Given the description of an element on the screen output the (x, y) to click on. 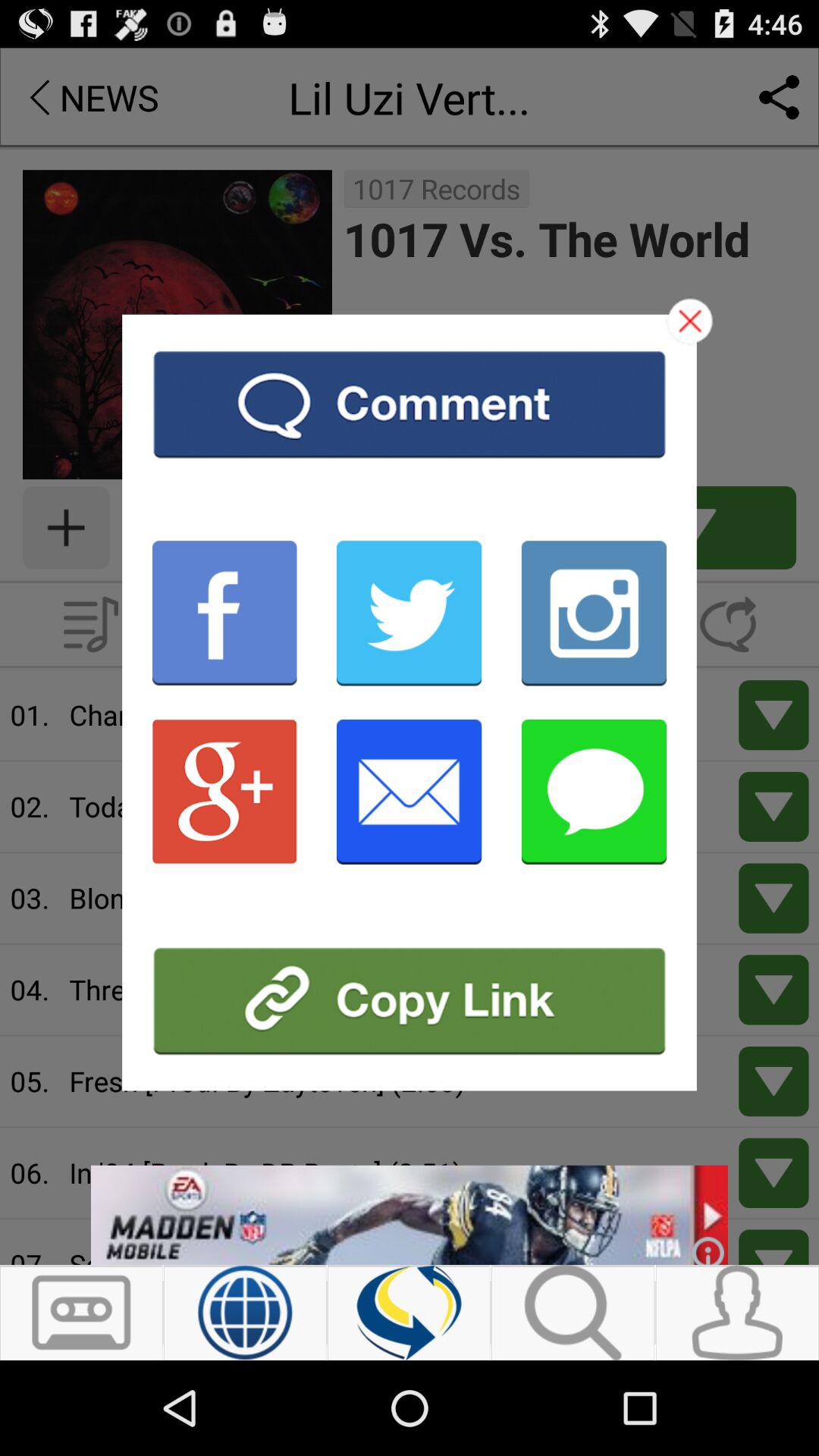
go to close option (689, 320)
